Given the description of an element on the screen output the (x, y) to click on. 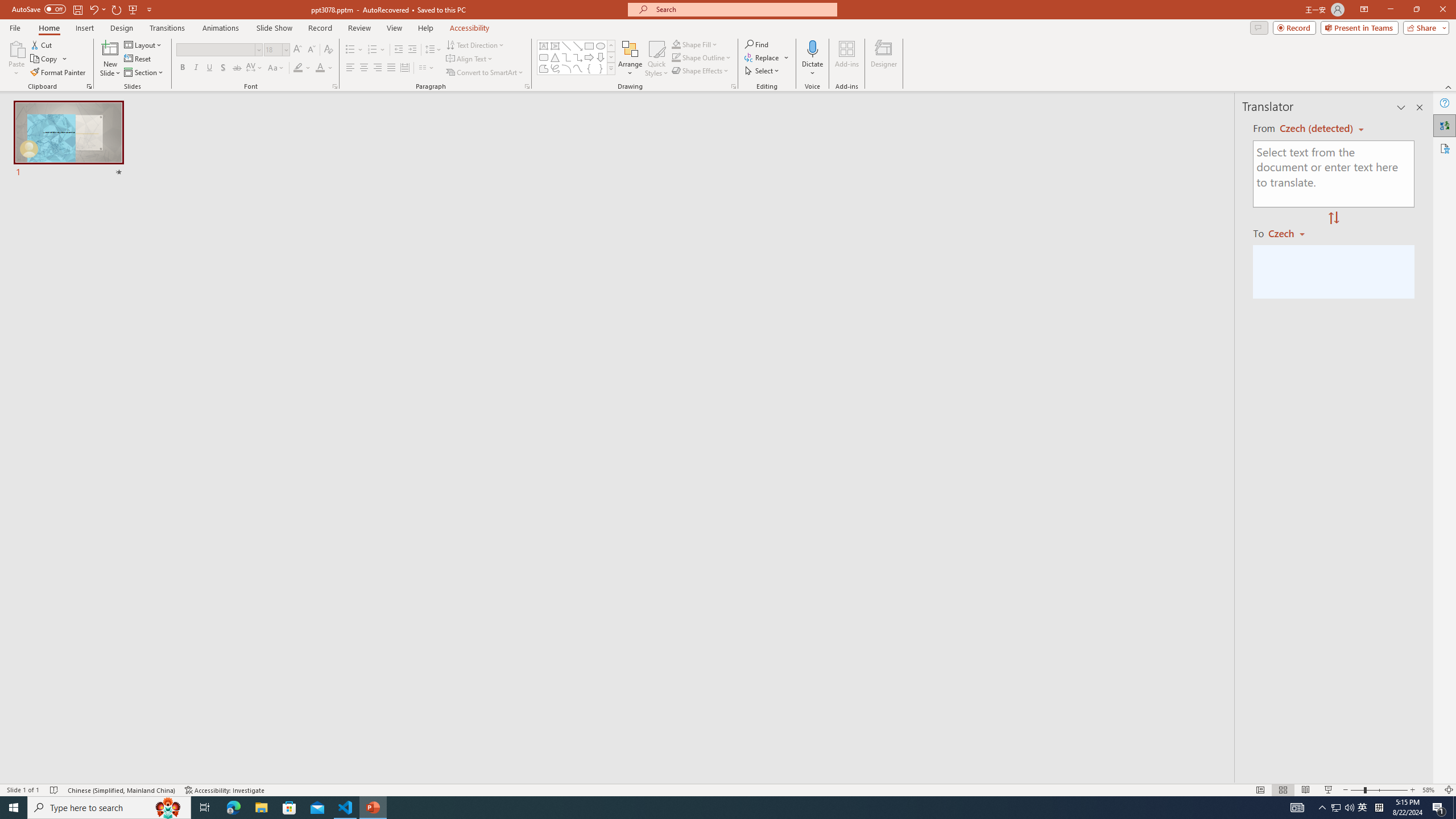
Timeline Section (188, 635)
Explorer (Ctrl+Shift+E) (76, 221)
Terminal actions (1050, 533)
Search (Ctrl+Shift+F) (76, 265)
wangyian_webcrawler - DSW (23, 249)
Output (Ctrl+Shift+U) (395, 533)
wangyian_dsw - DSW (23, 183)
